Given the description of an element on the screen output the (x, y) to click on. 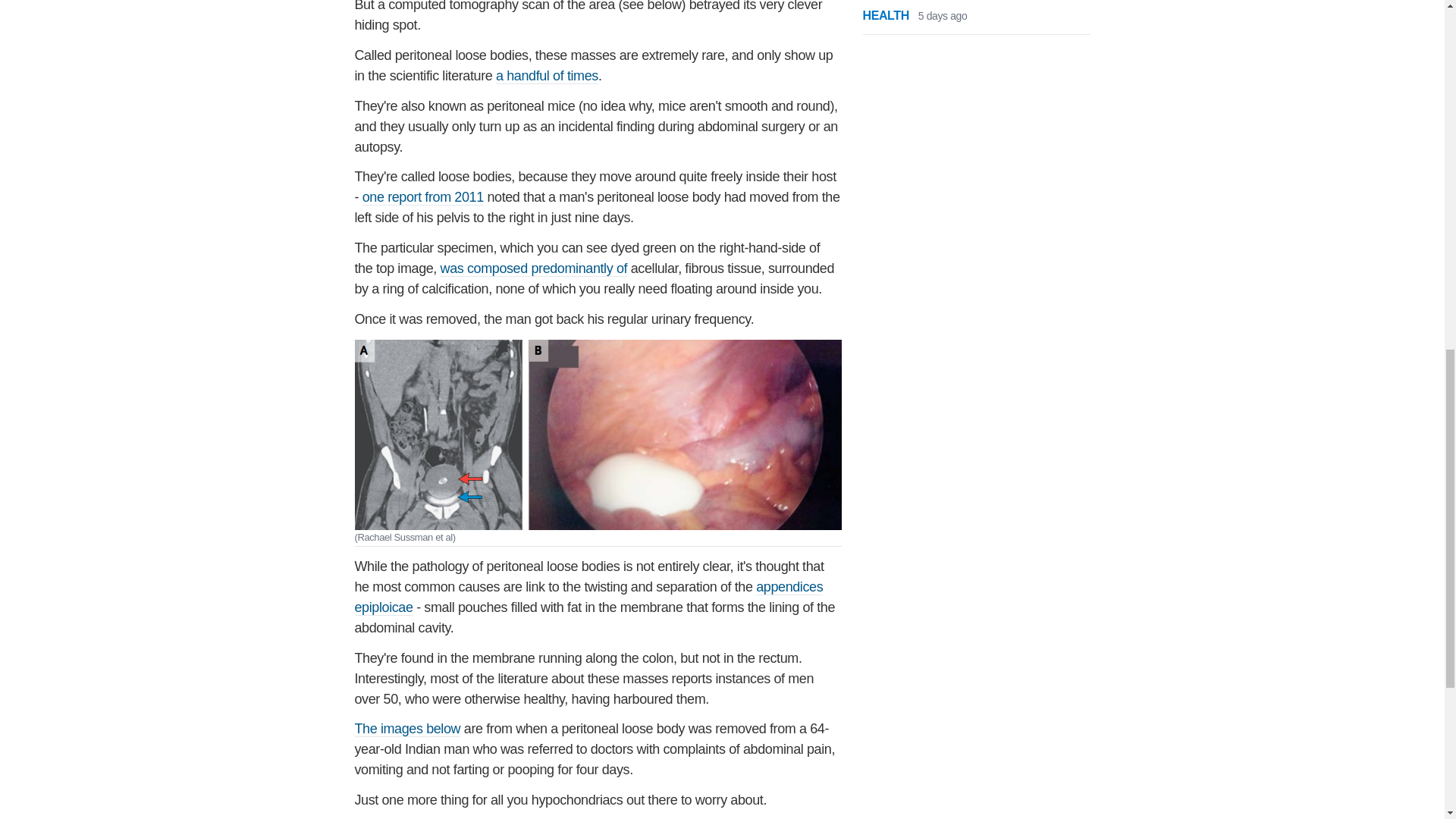
was composed predominantly of (534, 268)
The images below (408, 729)
one report from 2011 (422, 197)
appendices epiploicae (589, 597)
a handful of times (547, 75)
